Given the description of an element on the screen output the (x, y) to click on. 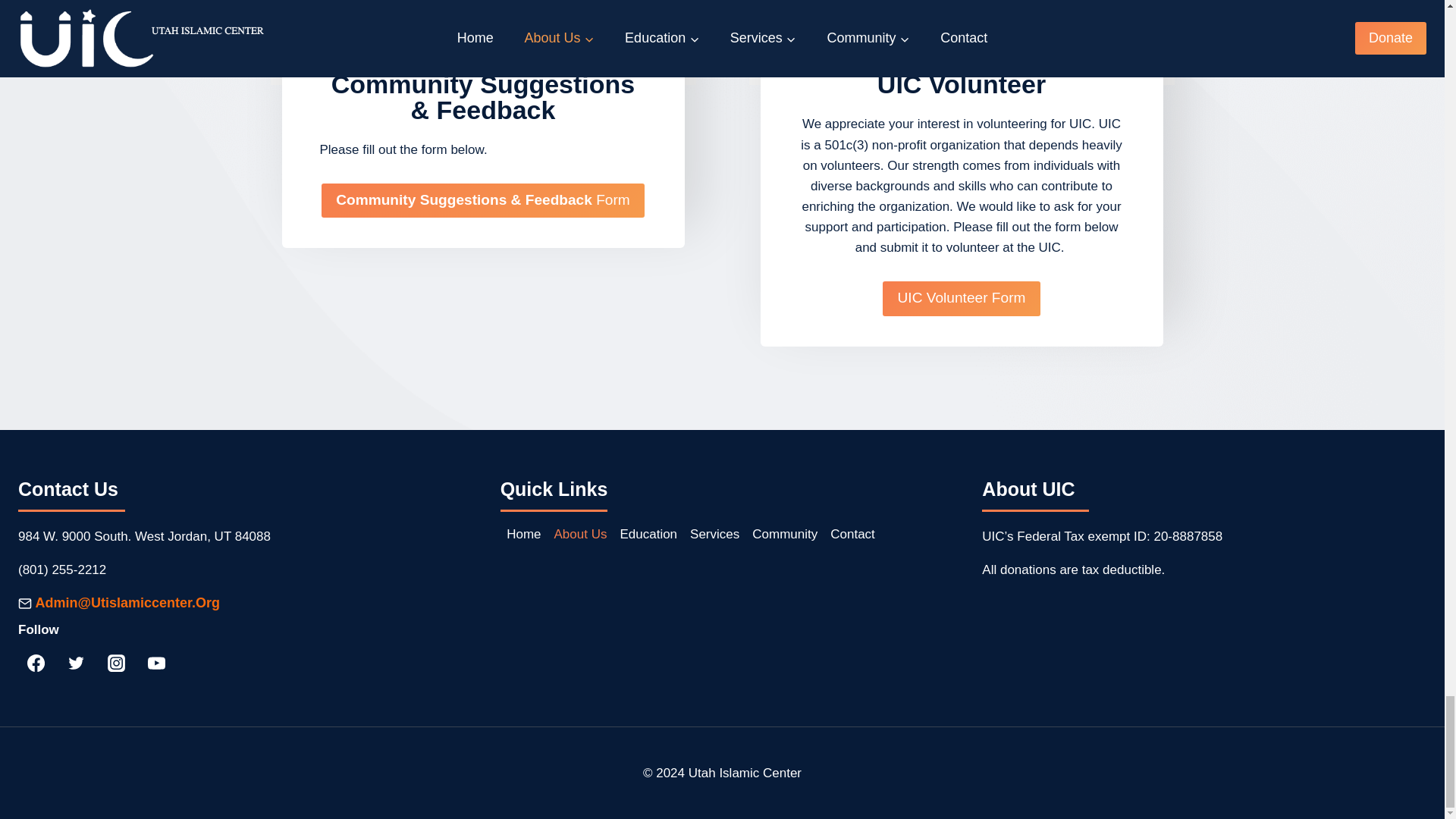
UIC Volunteer Form (960, 298)
Home (523, 533)
984 W. 9000 South. West Jordan, UT 84088 (143, 536)
About Us (579, 533)
